Given the description of an element on the screen output the (x, y) to click on. 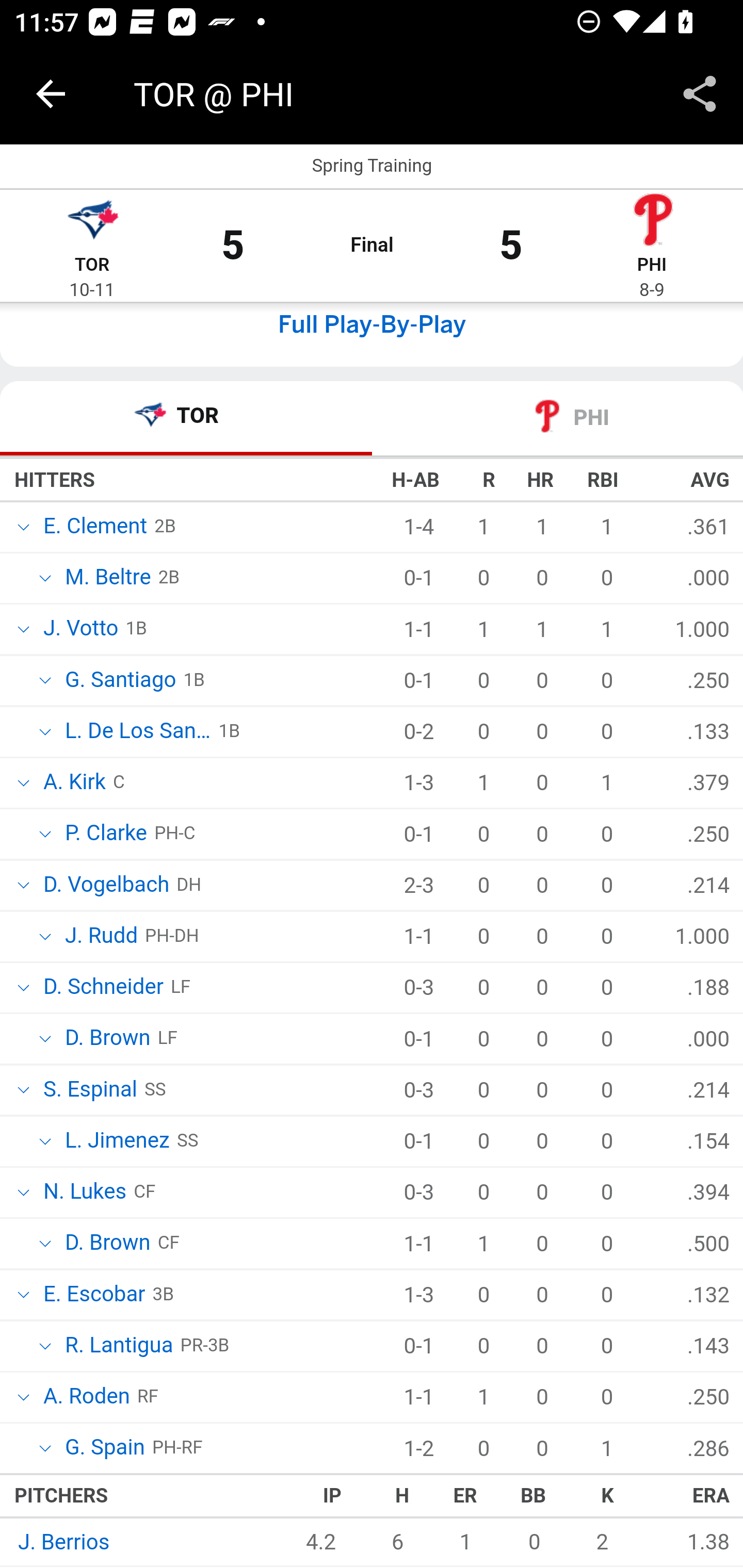
Navigate up (50, 93)
Share (699, 93)
Toronto Blue Jays (91, 223)
Philadelphia Phillies (651, 223)
TOR (91, 266)
PHI (651, 266)
Full Play-By-Play (371, 326)
TOR (186, 419)
PHI (557, 419)
E. Clement (93, 528)
M. Beltre 2B M. Beltre M. Beltre 2B 0-1 0 0 0 .000 (371, 578)
M. Beltre (106, 579)
J. Votto 1B J. Votto J. Votto 1B 1-1 1 1 1 1.000 (371, 630)
J. Votto (78, 629)
G. Santiago (118, 682)
L. De Los Santos (137, 733)
A. Kirk C A. Kirk A. Kirk C 1-3 1 0 1 .379 (371, 784)
A. Kirk (72, 783)
P. Clarke (104, 834)
D. Vogelbach (105, 886)
J. Rudd (99, 937)
D. Schneider (101, 988)
D. Brown LF D. Brown D. Brown LF 0-1 0 0 0 .000 (371, 1040)
D. Brown (106, 1040)
S. Espinal (88, 1091)
L. Jimenez (116, 1142)
N. Lukes CF N. Lukes N. Lukes CF 0-3 0 0 0 .394 (371, 1193)
N. Lukes (83, 1192)
D. Brown CF D. Brown D. Brown CF 1-1 1 0 0 .500 (371, 1244)
D. Brown (106, 1245)
E. Escobar (92, 1295)
R. Lantigua (117, 1346)
A. Roden RF A. Roden A. Roden RF 1-1 1 0 0 .250 (371, 1399)
A. Roden (84, 1399)
G. Spain (103, 1449)
J. Berrios J. Berrios J. Berrios 4.2 6 1 0 2 1.38 (371, 1542)
J. Berrios (61, 1544)
